Given the description of an element on the screen output the (x, y) to click on. 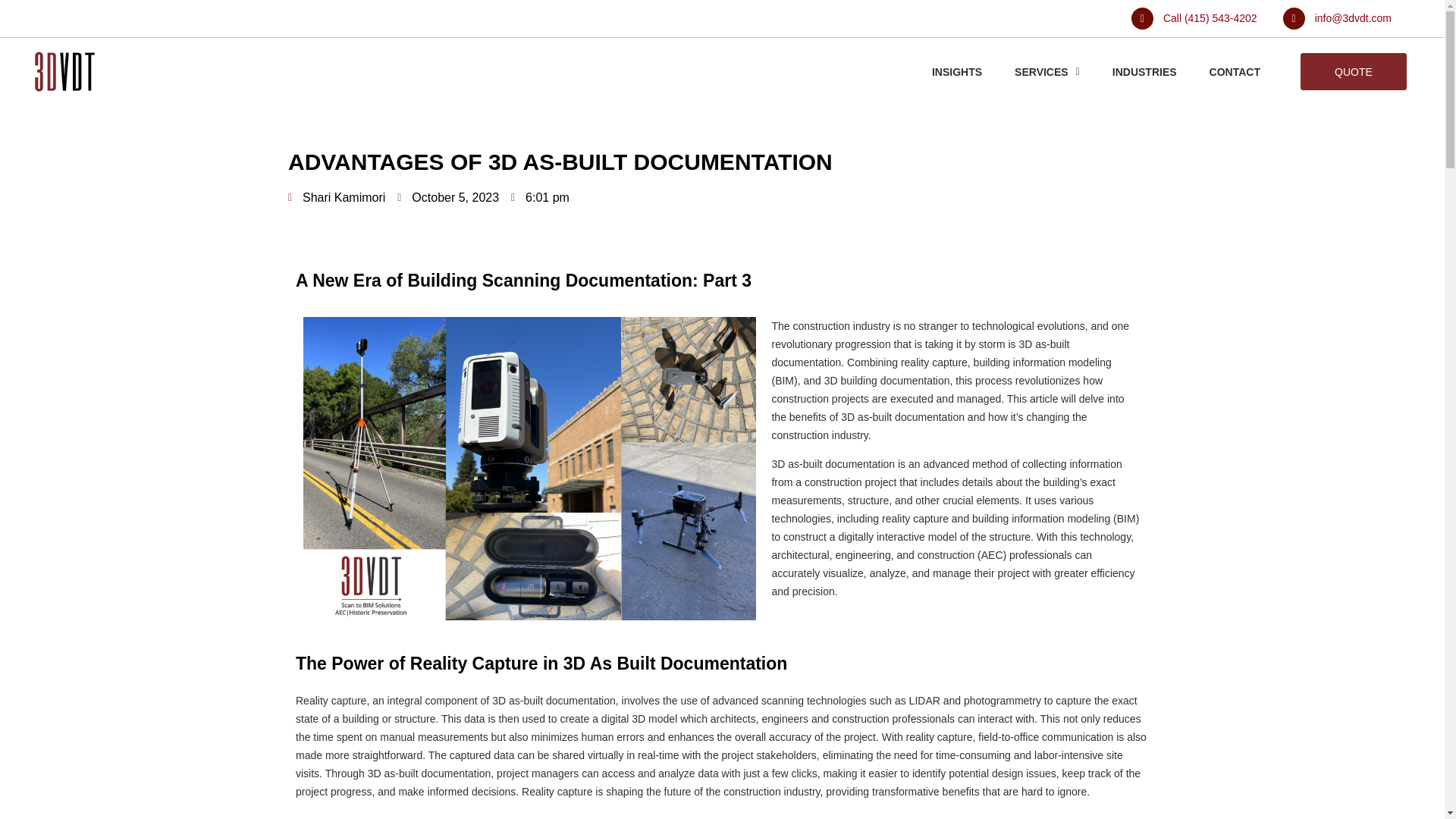
SERVICES (1046, 71)
October 5, 2023 (448, 198)
INSIGHTS (956, 71)
QUOTE (1353, 71)
CONTACT (1234, 71)
INDUSTRIES (1144, 71)
